Given the description of an element on the screen output the (x, y) to click on. 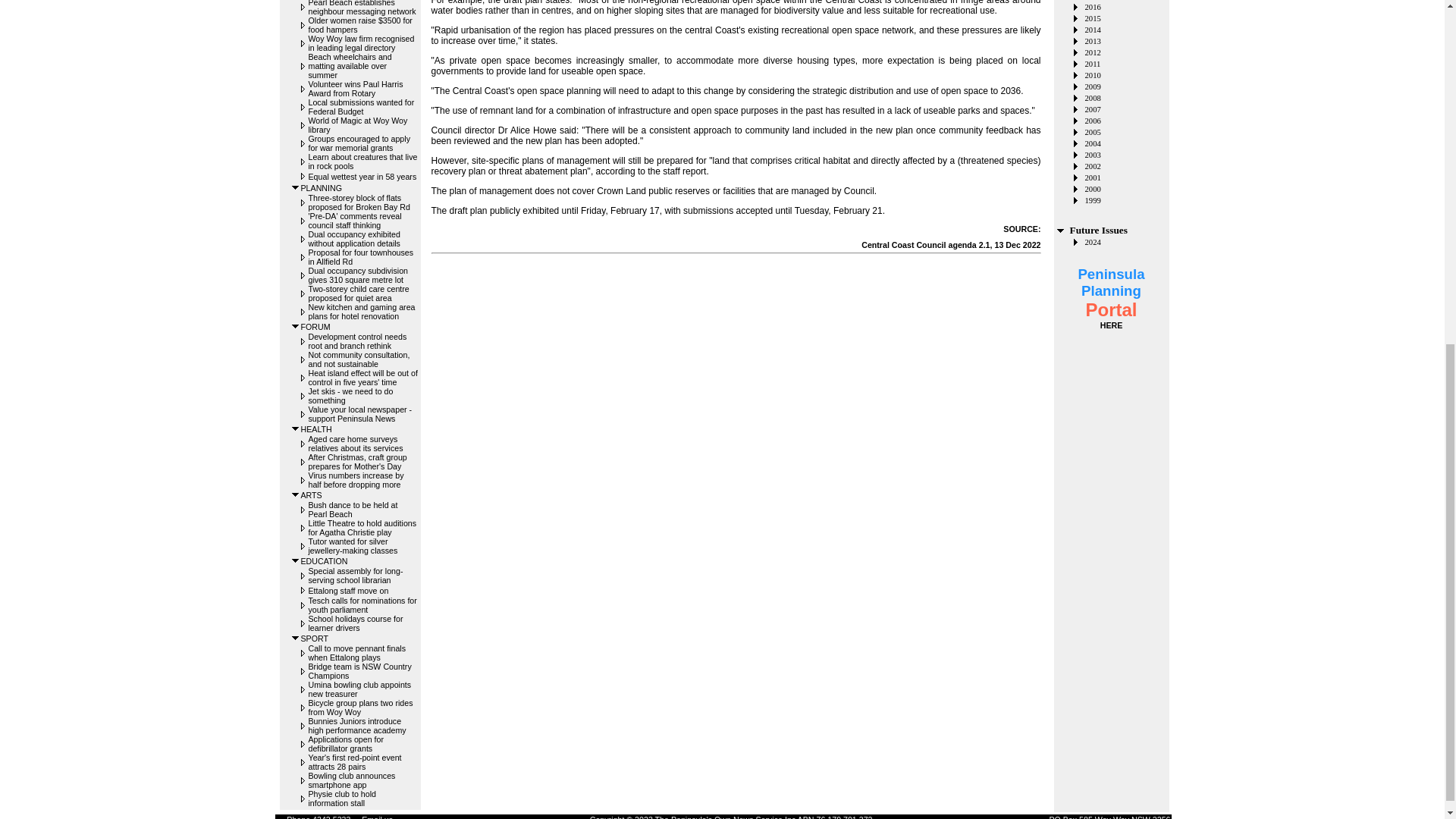
PLANNING (319, 187)
Local submissions wanted for Federal Budget (360, 106)
Collapse  EDUCATION  (295, 560)
Volunteer wins Paul Harris Award from Rotary (355, 88)
Collapse  HEALTH  (295, 428)
'Pre-DA' comments reveal council staff thinking (354, 220)
Collapse  ARTS  (295, 494)
Groups encouraged to apply for war memorial grants (358, 143)
Dual occupancy exhibited without application details (352, 239)
Woy Woy law firm recognised in leading legal directory (360, 43)
Pearl Beach establishes neighbour messaging network (360, 7)
World of Magic at Woy Woy library (357, 125)
Collapse  PLANNING  (295, 187)
Three-storey block of flats proposed for Broken Bay Rd (358, 202)
Beach wheelchairs and matting available over summer (349, 65)
